Given the description of an element on the screen output the (x, y) to click on. 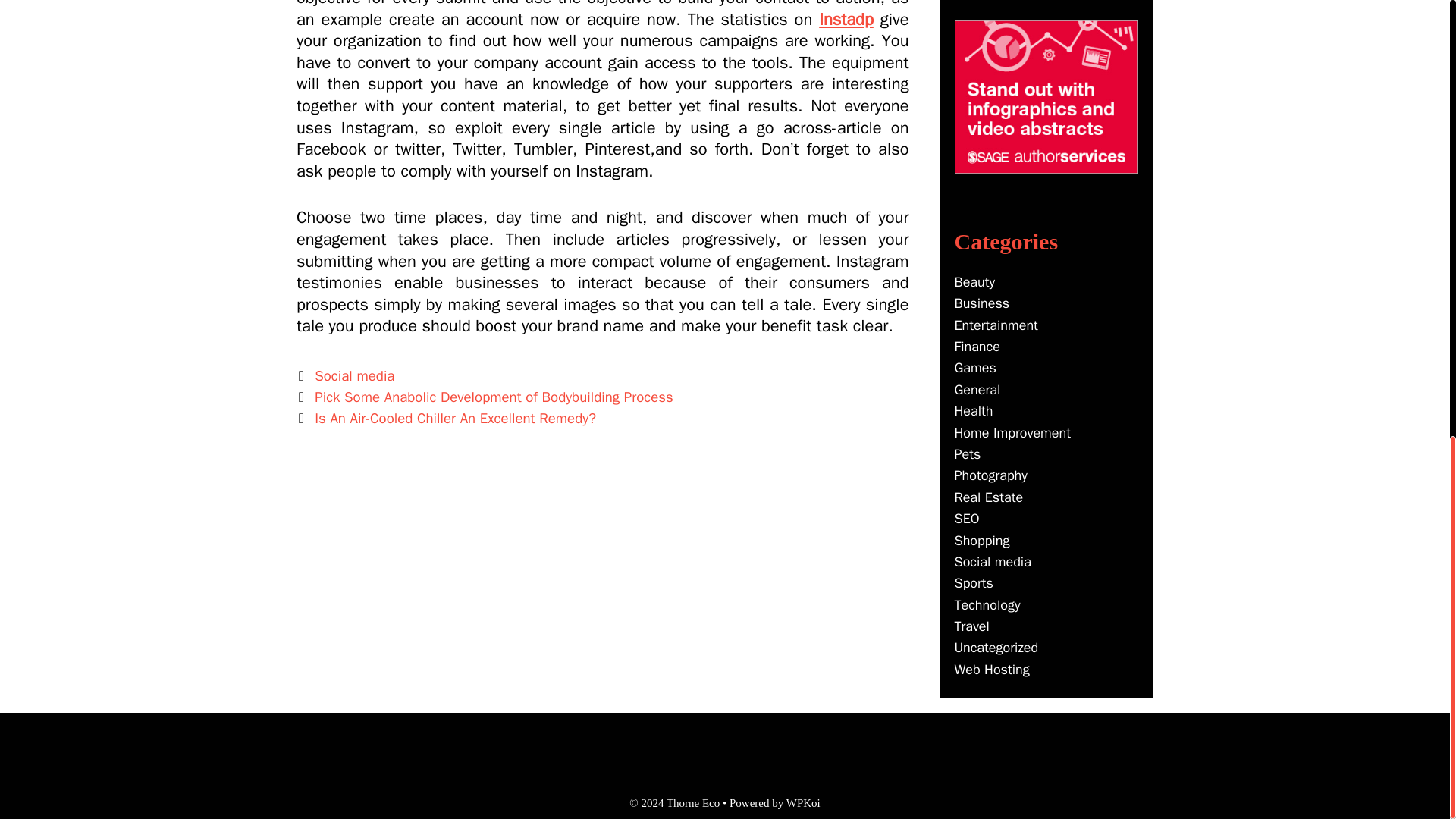
Pets (966, 453)
Travel (970, 626)
Photography (989, 475)
Instadp (845, 19)
Next (446, 418)
Business (981, 303)
Web Hosting (991, 669)
Shopping (981, 540)
Social media (991, 561)
Is An Air-Cooled Chiller An Excellent Remedy? (454, 418)
Home Improvement (1011, 433)
Social media (354, 375)
WPKoi (803, 802)
Pick Some Anabolic Development of Bodybuilding Process (493, 397)
Beauty (973, 281)
